Given the description of an element on the screen output the (x, y) to click on. 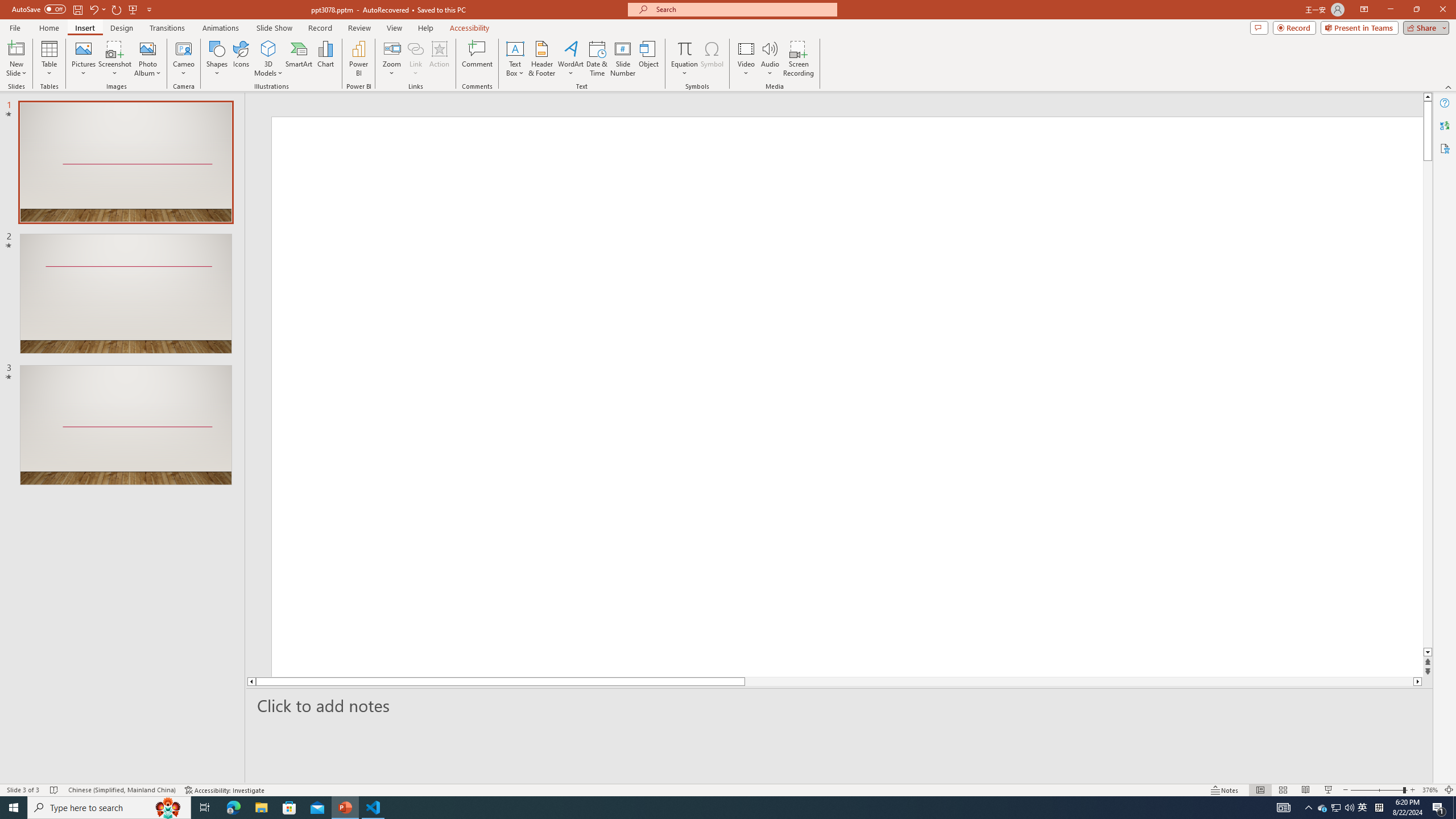
WordArt (570, 58)
